Given the description of an element on the screen output the (x, y) to click on. 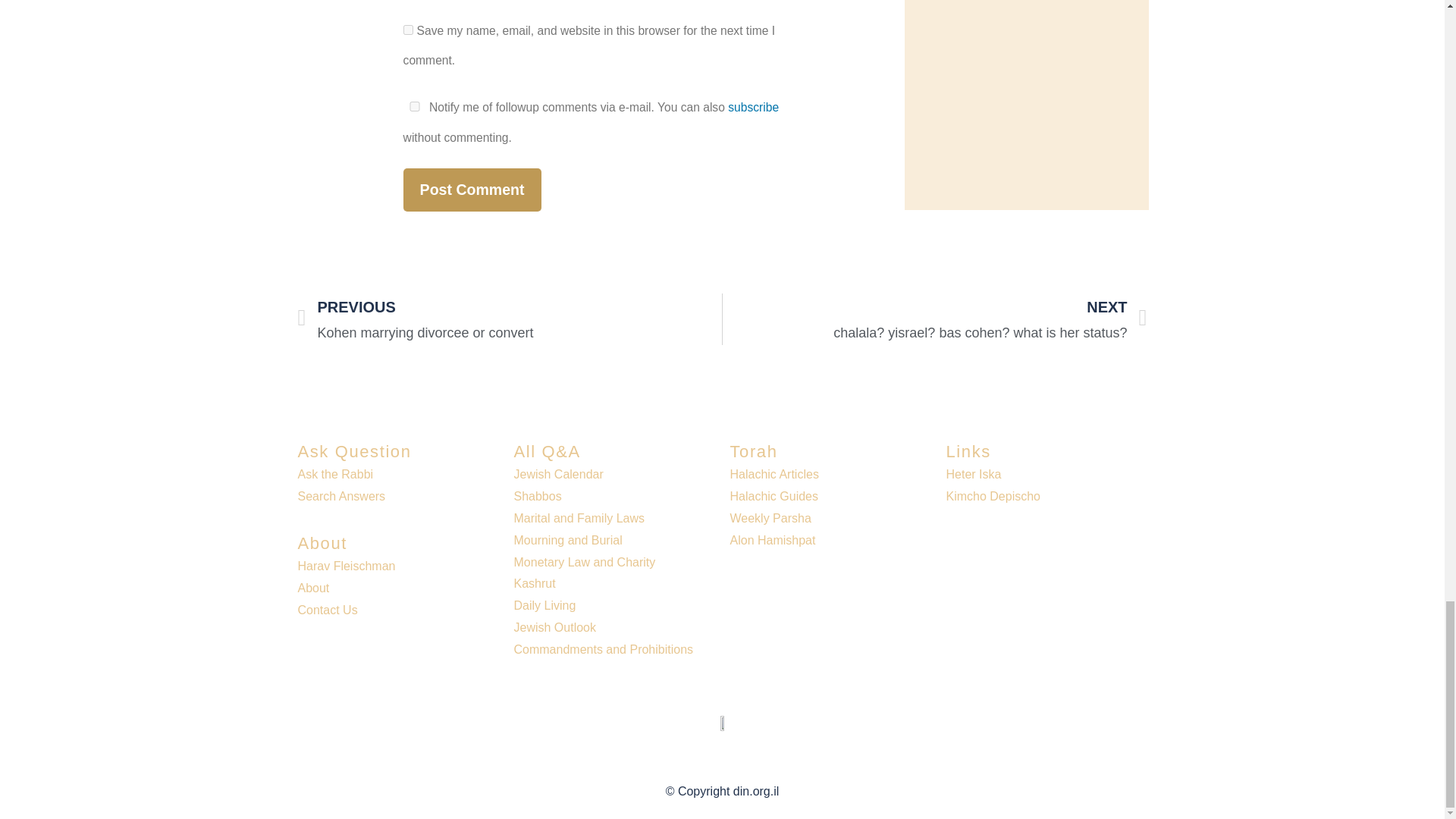
yes (408, 30)
yes (414, 106)
Post Comment (472, 189)
